Given the description of an element on the screen output the (x, y) to click on. 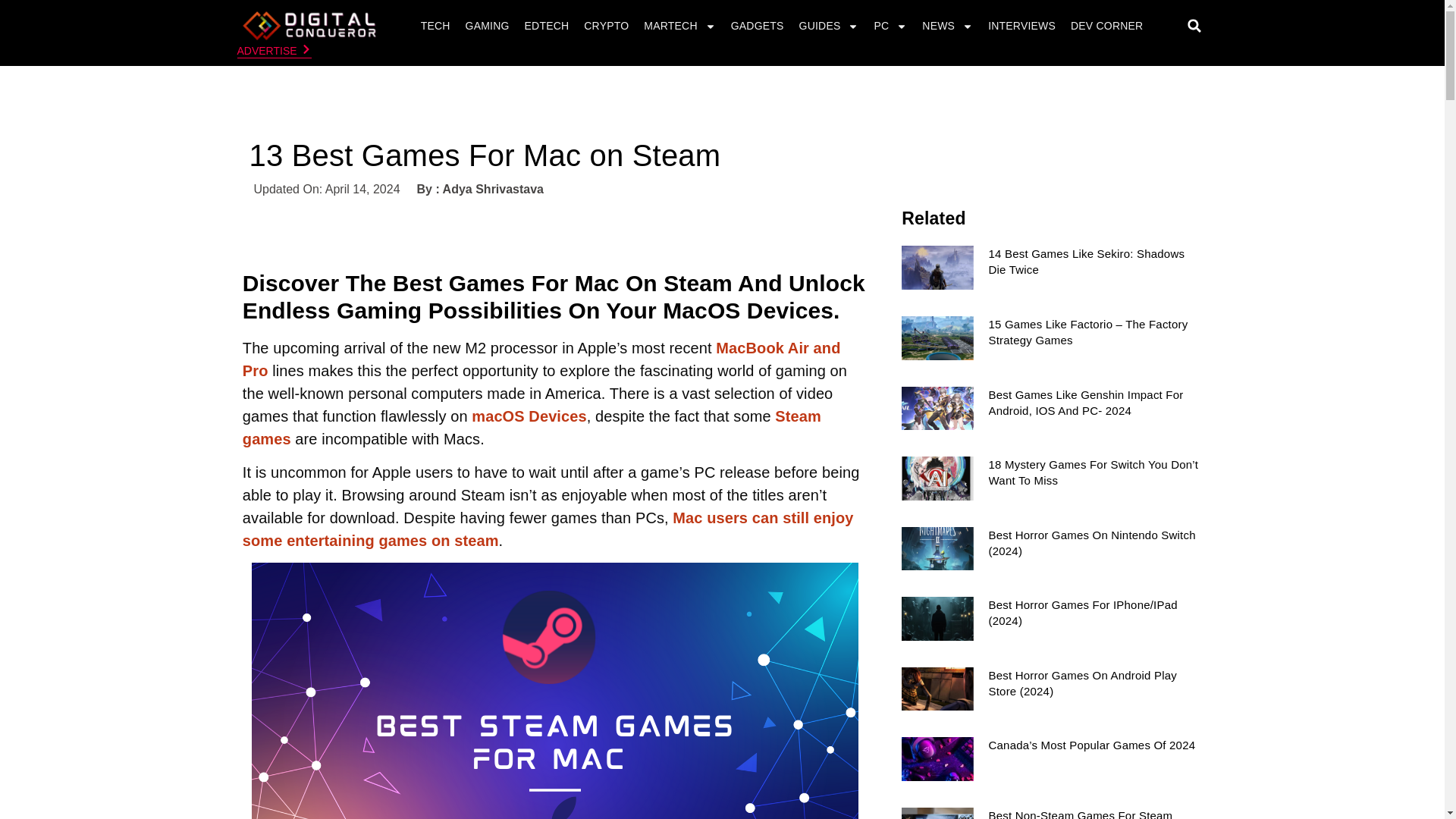
GADGETS (756, 26)
MARTECH (679, 26)
GUIDES (829, 26)
DEV CORNER (1107, 26)
TECH (435, 26)
INTERVIEWS (1021, 26)
PC (890, 26)
GAMING (487, 26)
EDTECH (547, 26)
NEWS (947, 26)
CRYPTO (605, 26)
